Given the description of an element on the screen output the (x, y) to click on. 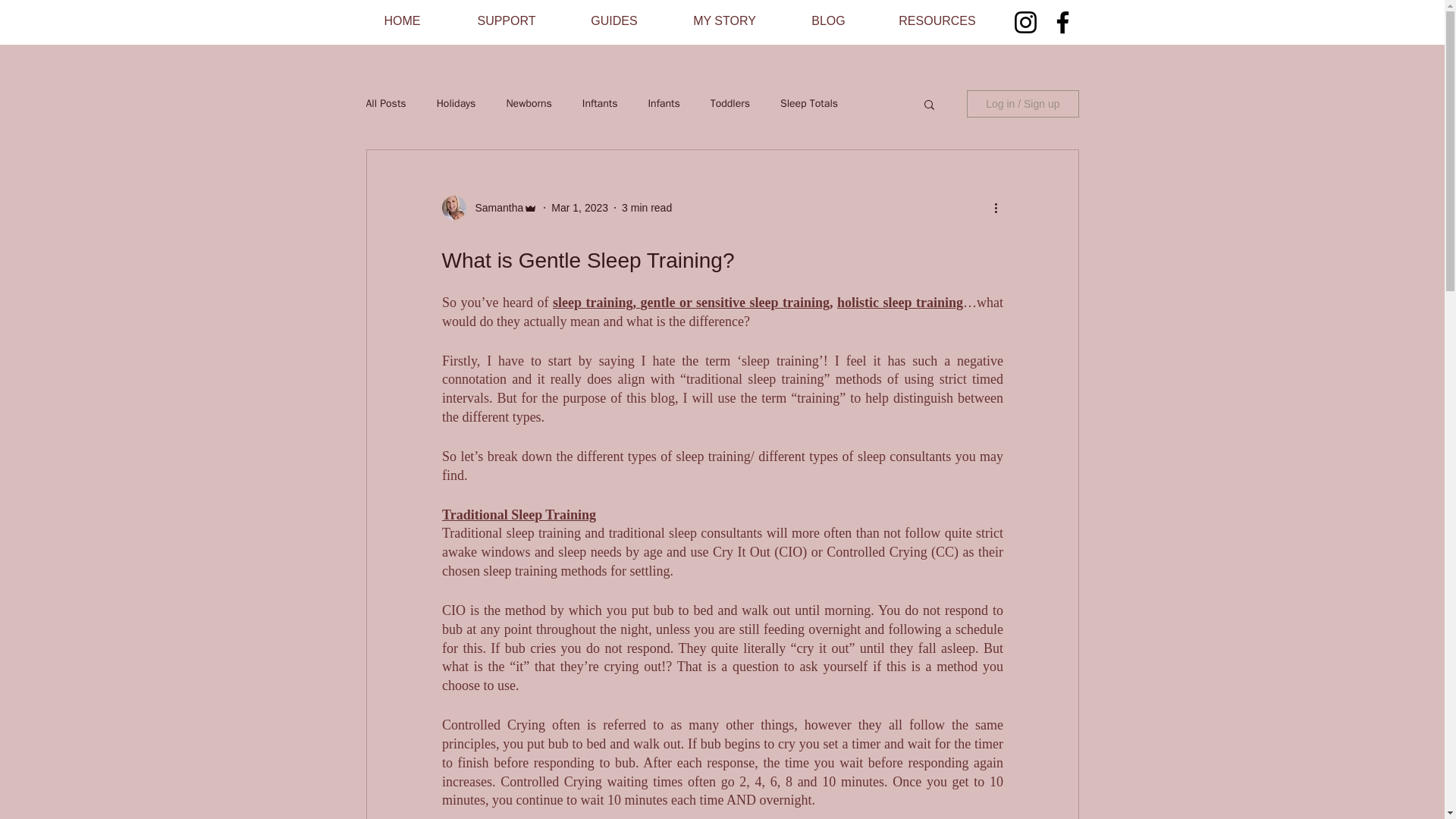
Sleep Totals (809, 103)
Toddlers (729, 103)
SUPPORT (506, 20)
Inftants (599, 103)
RESOURCES (937, 20)
Infants (663, 103)
Mar 1, 2023 (579, 207)
gentle or sensitive sleep training (734, 302)
Newborns (528, 103)
All Posts (385, 103)
3 min read (646, 207)
Holidays (456, 103)
sleep training, (592, 302)
GUIDES (613, 20)
HOME (402, 20)
